Given the description of an element on the screen output the (x, y) to click on. 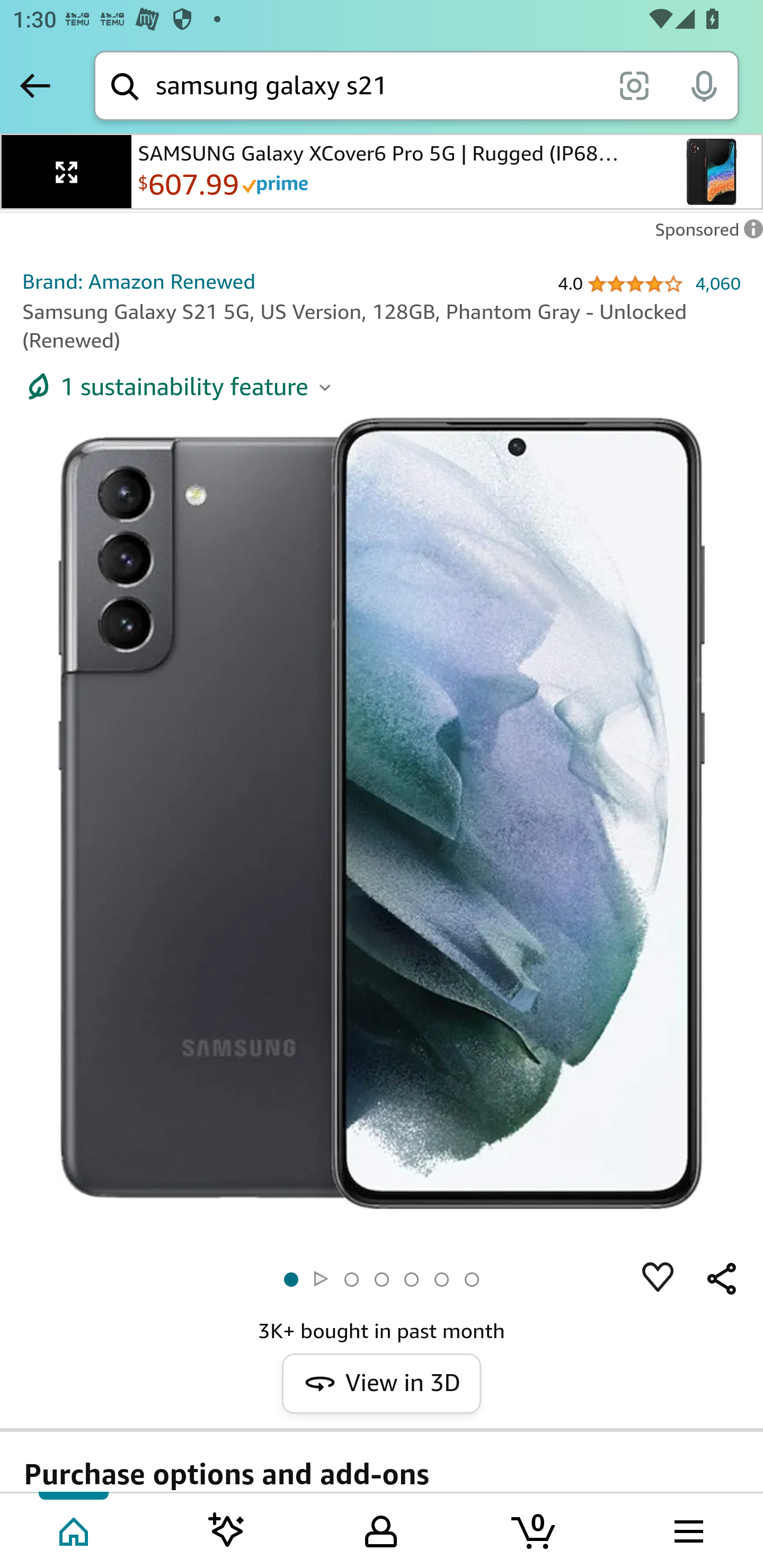
Back (35, 85)
scan it (633, 85)
Expand Video Icon (66, 171)
Leave feedback on Sponsored ad Sponsored  (703, 234)
Brand: Amazon Renewed (138, 281)
Heart to save an item to your default list (657, 1278)
View in 3D view360._CB586229963_ View in 3D (381, 1383)
Home Tab 1 of 5 (75, 1529)
Inspire feed Tab 2 of 5 (227, 1529)
Your Amazon.com Tab 3 of 5 (380, 1529)
Cart 0 item Tab 4 of 5 0 (534, 1529)
Browse menu Tab 5 of 5 (687, 1529)
